Given the description of an element on the screen output the (x, y) to click on. 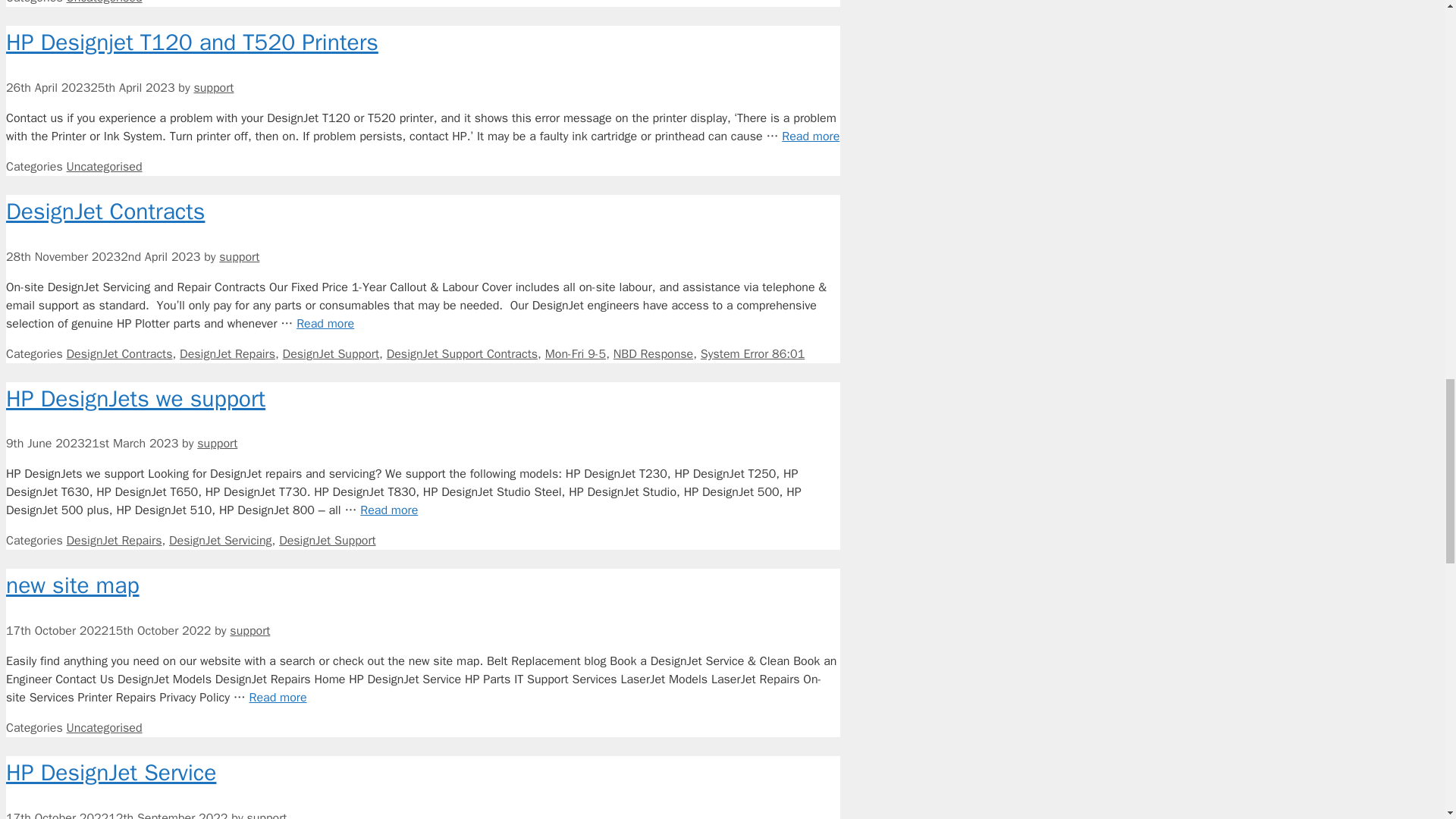
DesignJet Contracts (325, 323)
HP Designjet T120 and T520 Printers (810, 136)
View all posts by support (212, 87)
View all posts by support (239, 256)
